Given the description of an element on the screen output the (x, y) to click on. 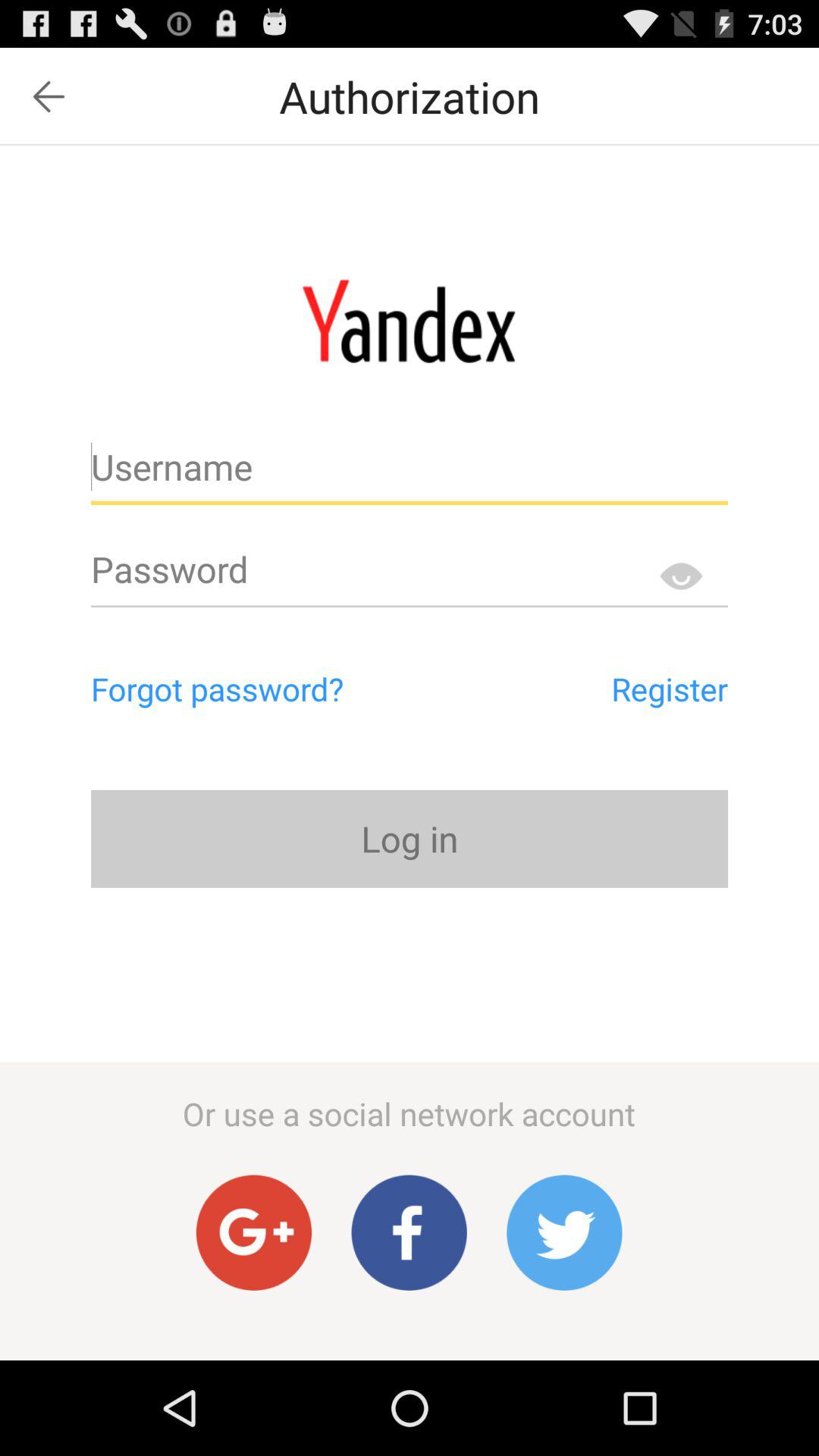
open item below the forgot password? app (409, 838)
